Given the description of an element on the screen output the (x, y) to click on. 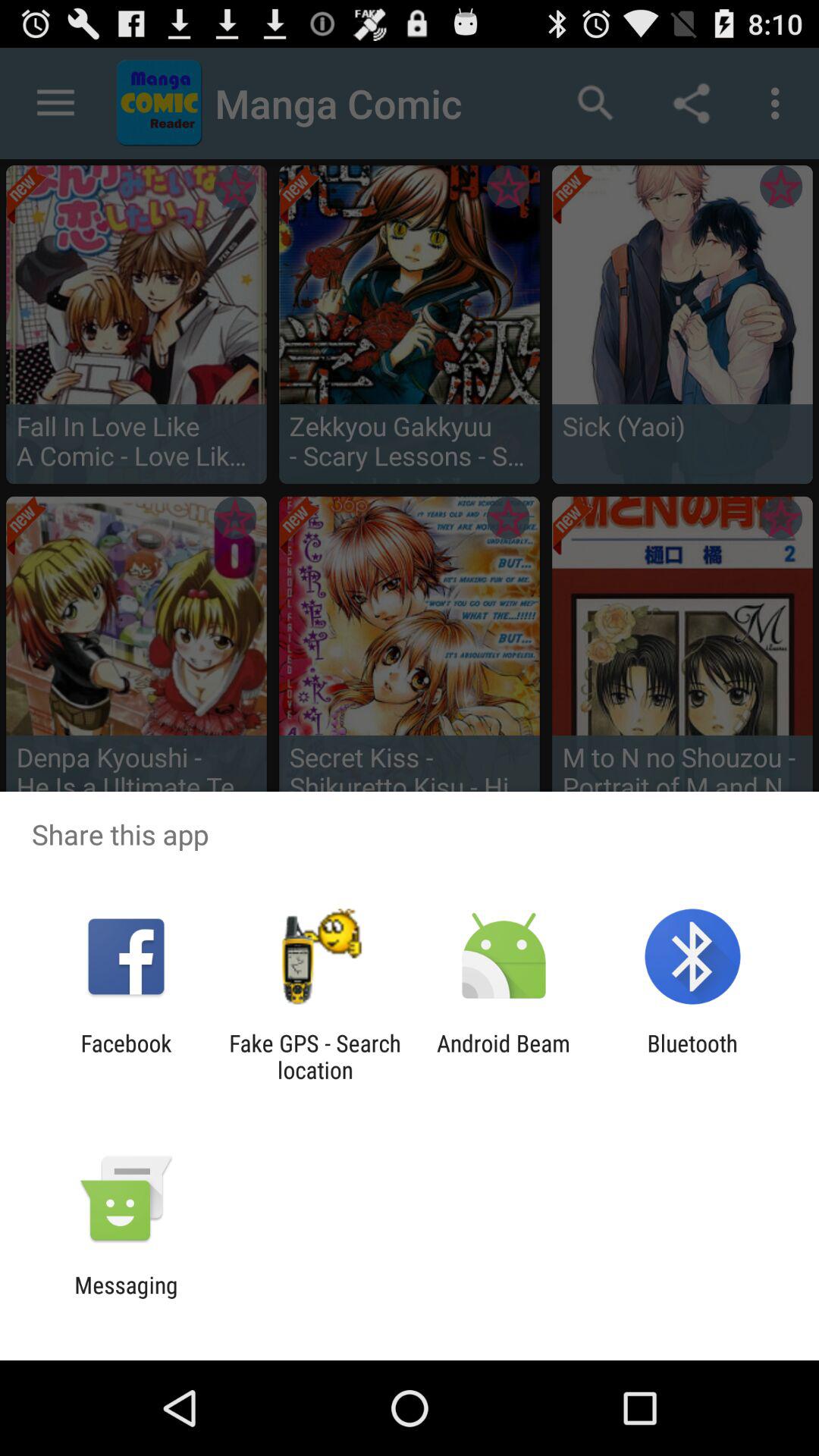
tap app next to android beam app (314, 1056)
